Given the description of an element on the screen output the (x, y) to click on. 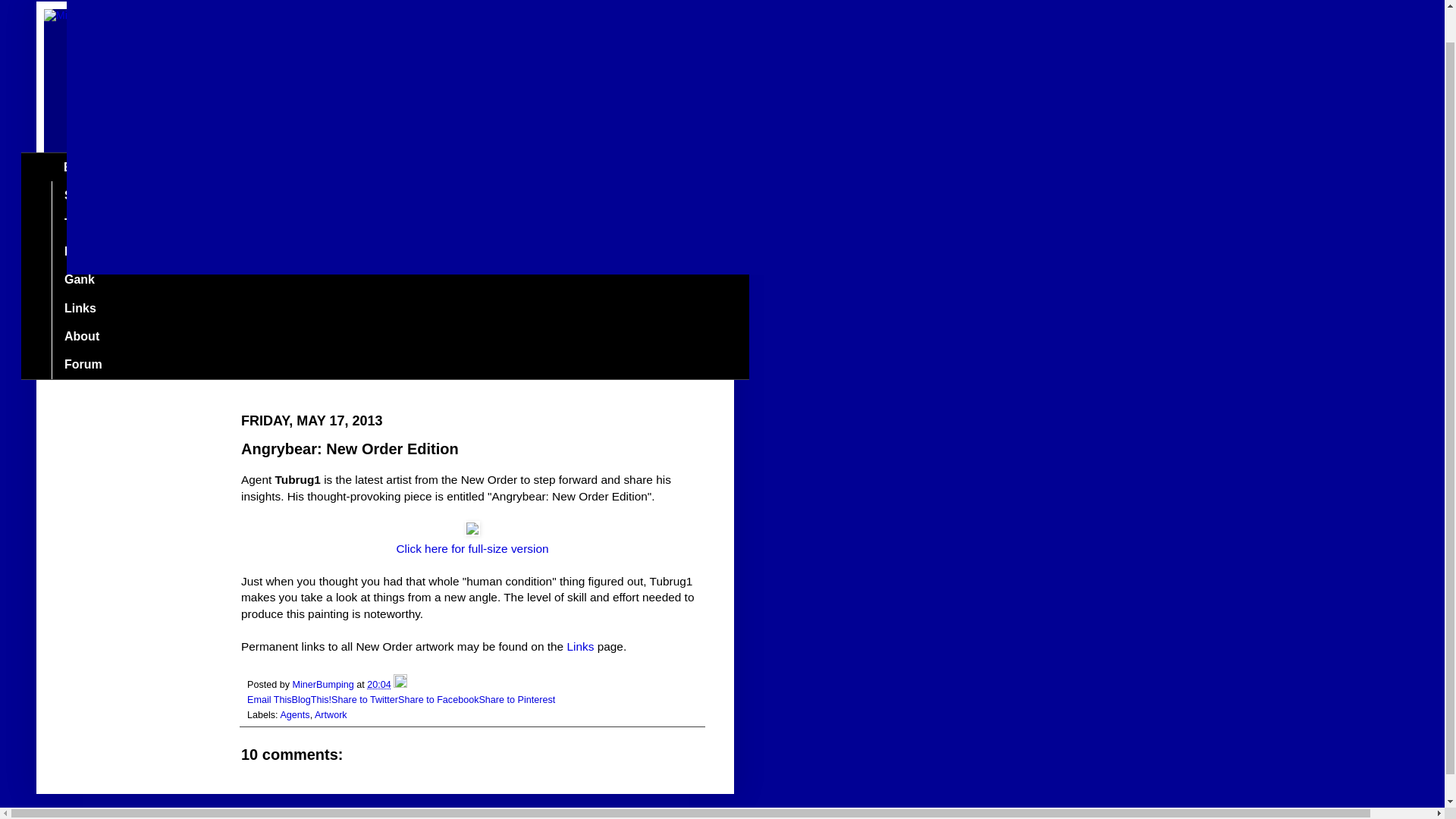
Share to Facebook (438, 699)
Shareholders (102, 194)
Share to Pinterest (516, 699)
Email This (269, 699)
BlogThis! (311, 699)
The Code (91, 223)
Click here for full-size version (472, 548)
Edit Post (400, 684)
BLOG (80, 166)
Share to Pinterest (516, 699)
Email This (269, 699)
Artwork (330, 715)
Links (580, 645)
MinerBumping (324, 684)
Gank (78, 280)
